Given the description of an element on the screen output the (x, y) to click on. 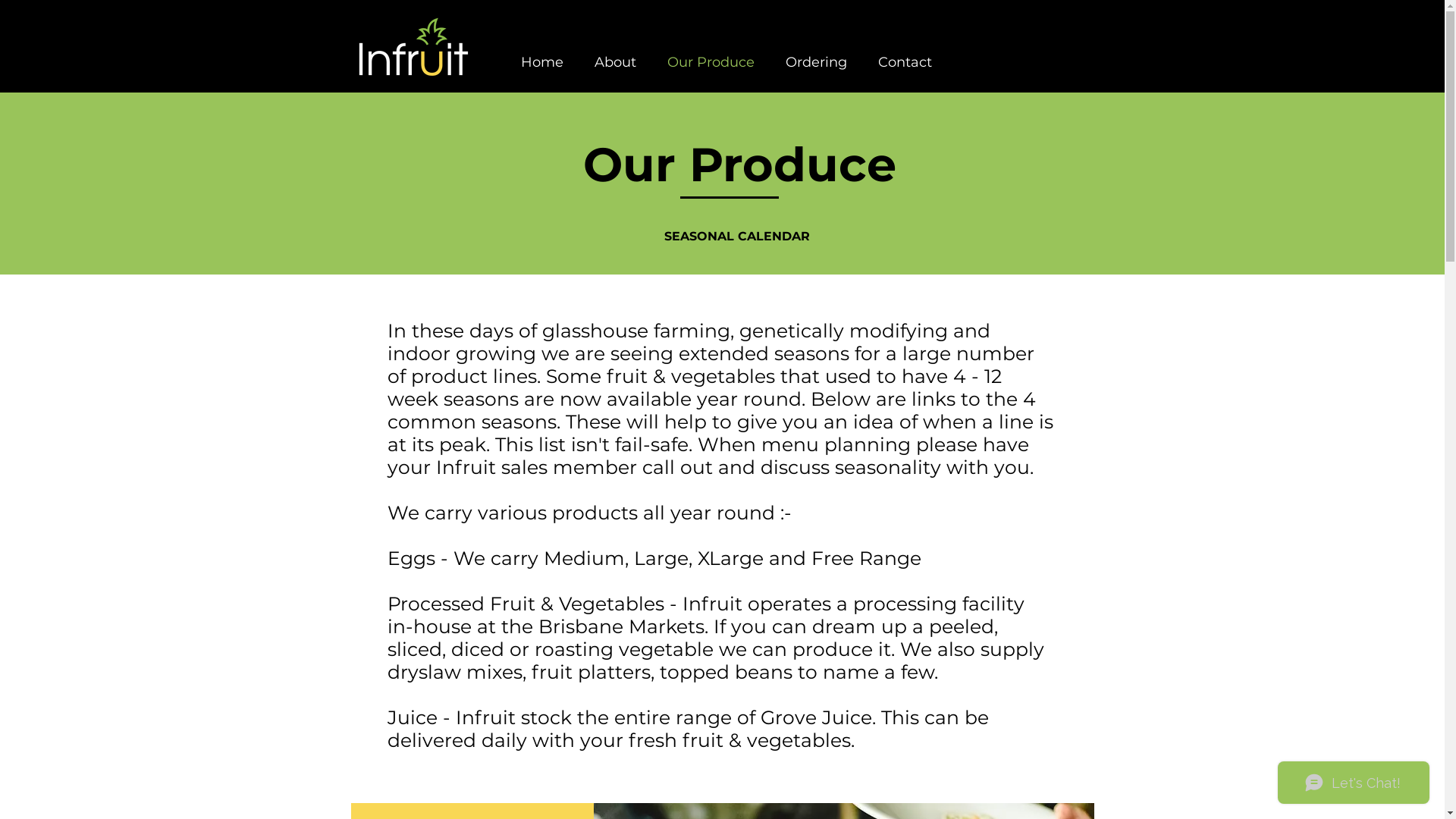
SEASONAL CALENDAR Element type: text (736, 236)
Ordering Element type: text (814, 62)
About Element type: text (613, 62)
Home Element type: text (541, 62)
Contact Element type: text (903, 62)
Our Produce Element type: text (709, 62)
